Given the description of an element on the screen output the (x, y) to click on. 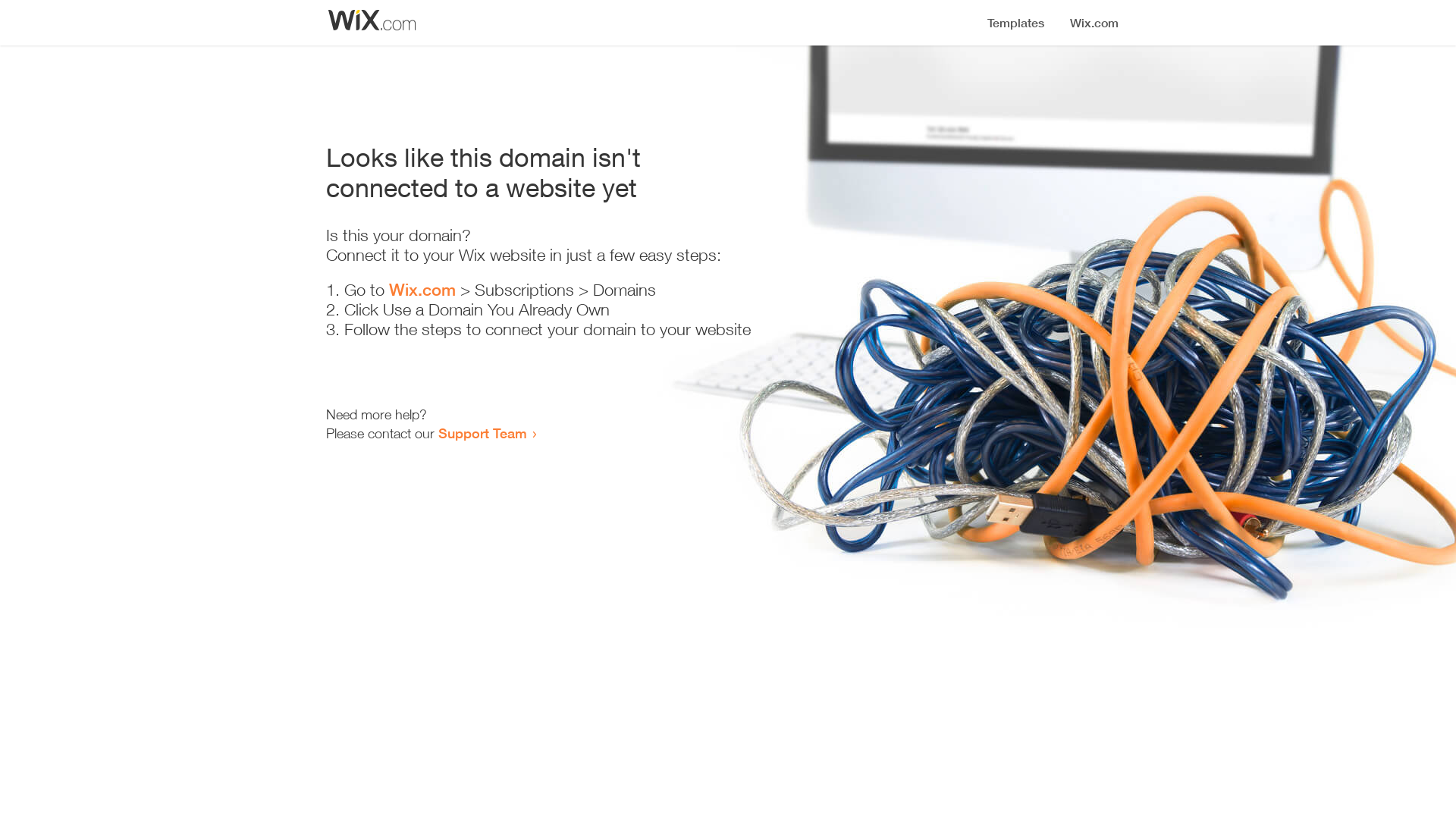
Support Team Element type: text (482, 432)
Wix.com Element type: text (422, 289)
